Given the description of an element on the screen output the (x, y) to click on. 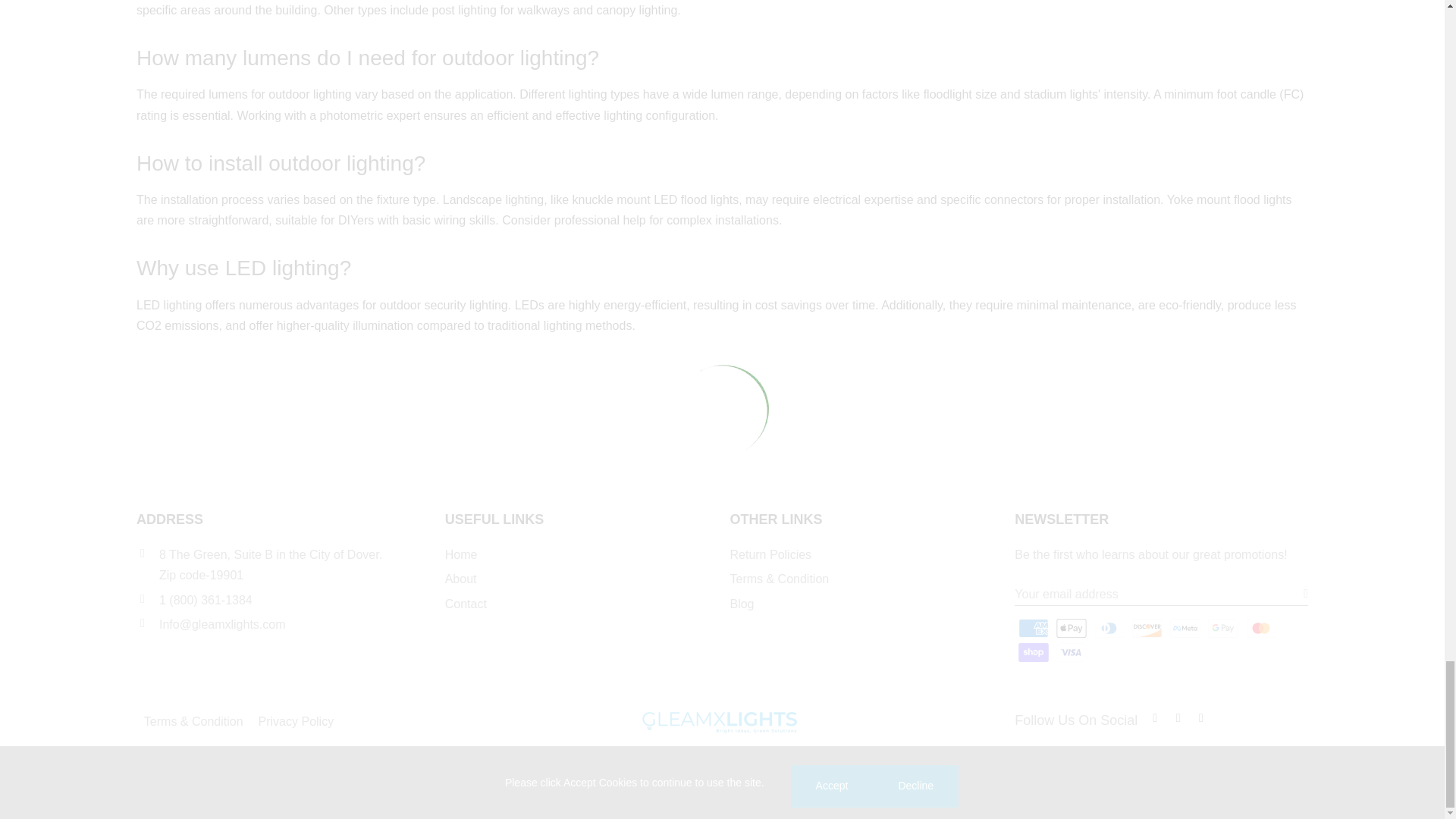
Diners Club (1109, 628)
Apple Pay (1071, 628)
American Express (1033, 628)
Meta Pay (1185, 628)
Mastercard (1260, 628)
Discover (1147, 628)
Visa (1071, 651)
Google Pay (1222, 628)
Shop Pay (1033, 651)
